Given the description of an element on the screen output the (x, y) to click on. 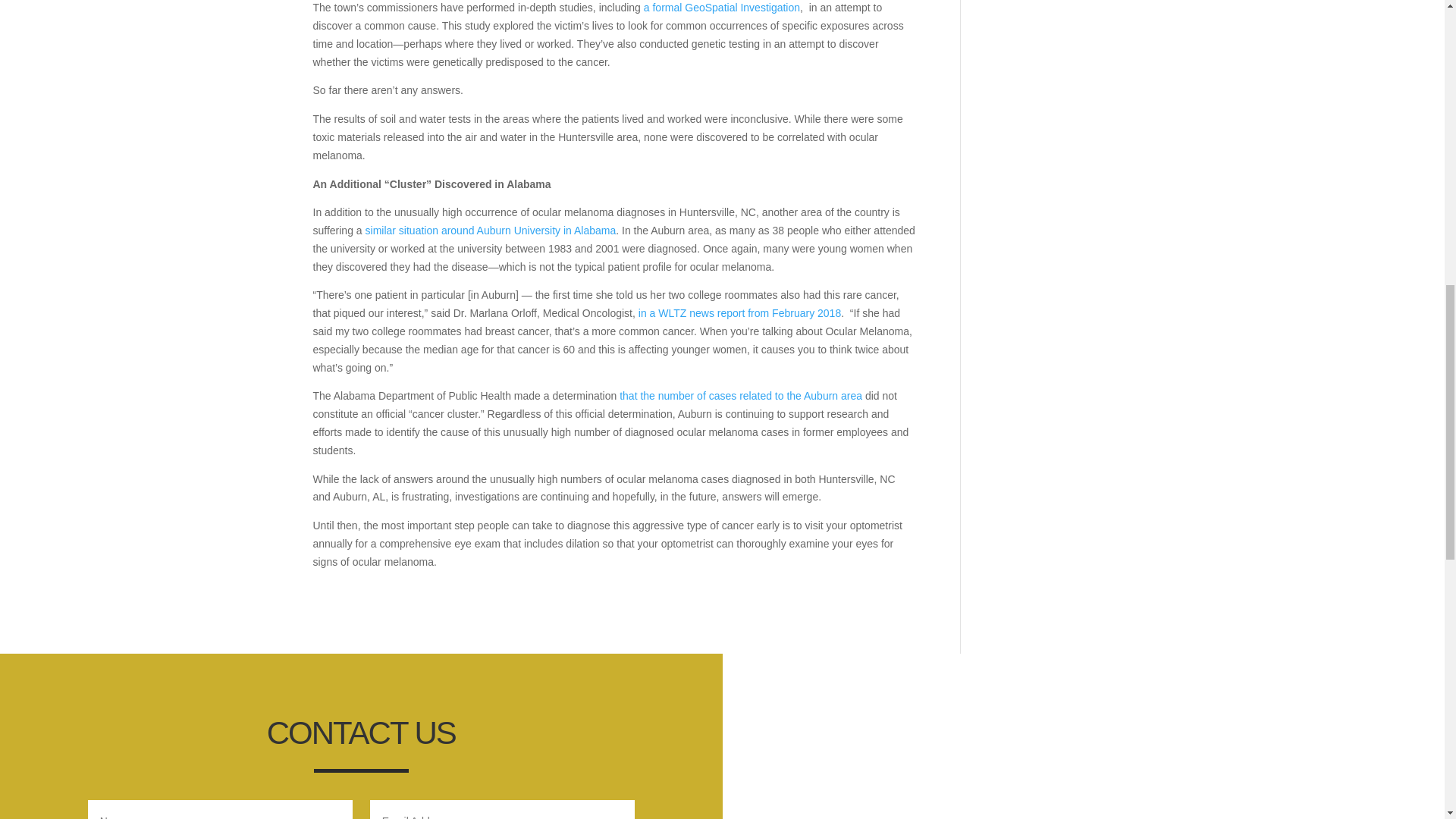
similar situation around Auburn University in Alabama (490, 230)
a formal GeoSpatial Investigation (721, 7)
in a WLTZ news report from February 2018 (740, 313)
that the number of cases related to the Auburn area (740, 395)
